Given the description of an element on the screen output the (x, y) to click on. 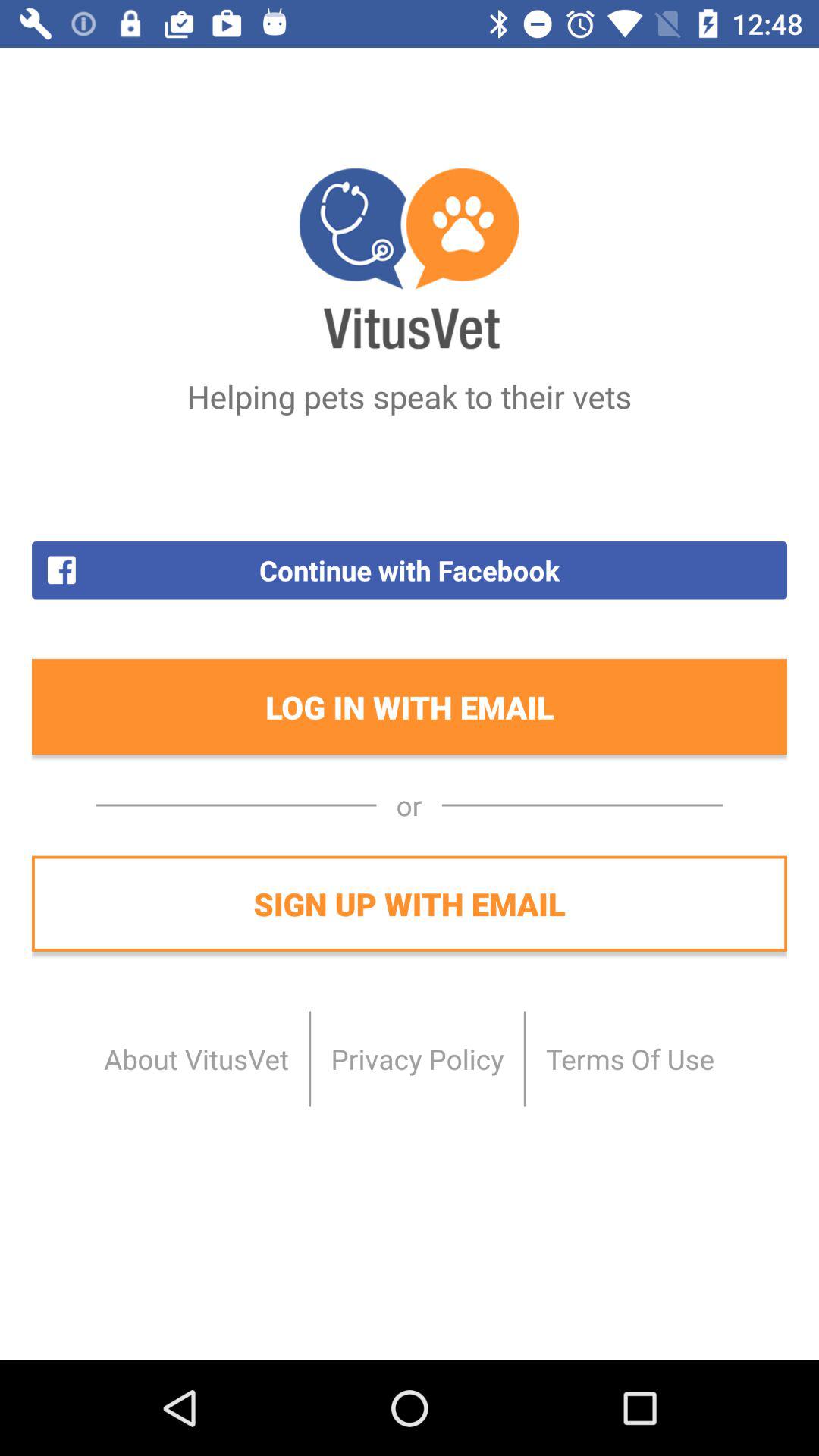
press the item at the bottom right corner (630, 1058)
